Given the description of an element on the screen output the (x, y) to click on. 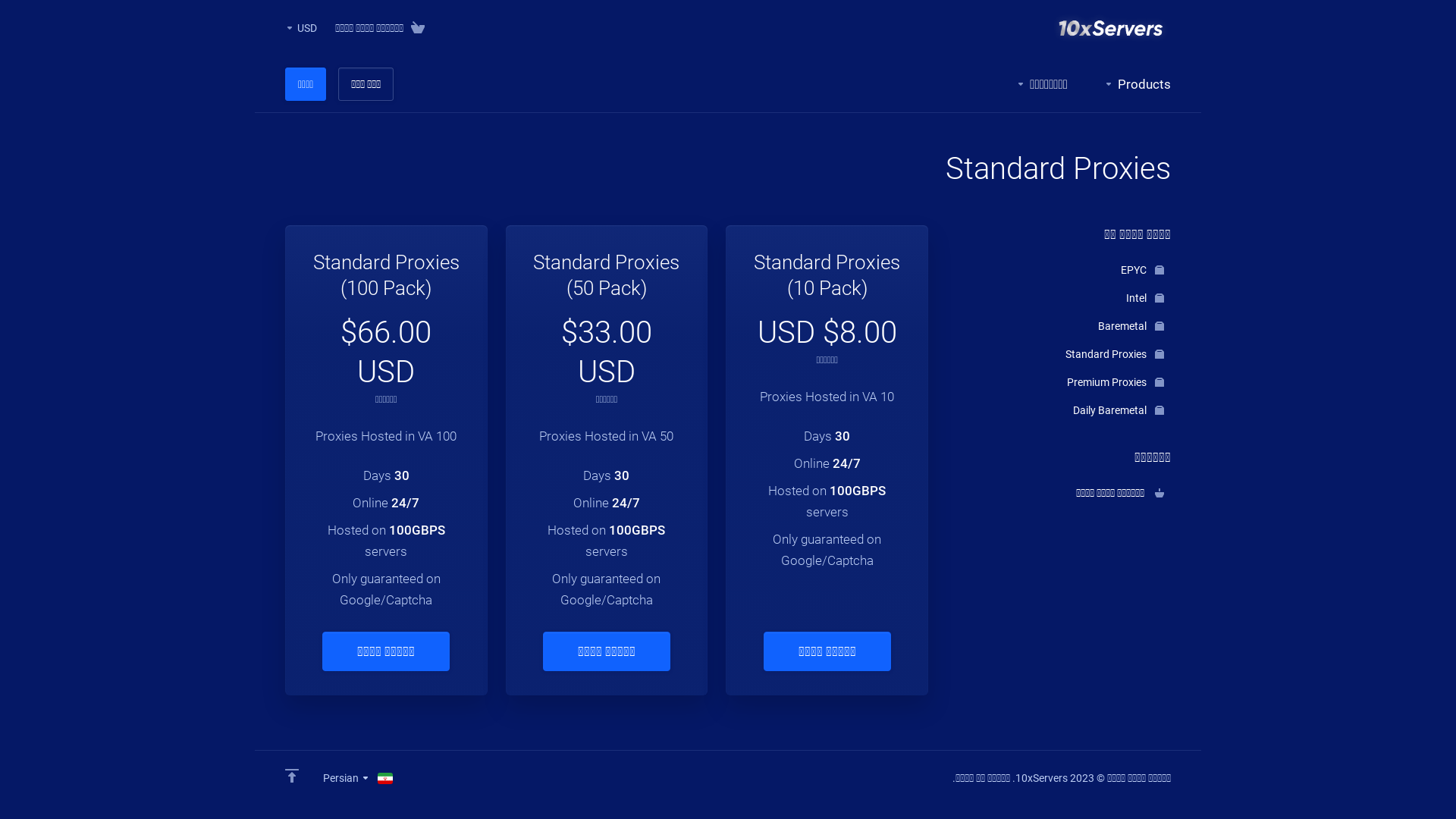
Products Element type: text (1137, 84)
USD Element type: text (301, 27)
10xServers Element type: hover (1110, 27)
Baremetal Element type: text (1064, 325)
Daily Baremetal Element type: text (1064, 409)
Standard Proxies Element type: text (1064, 353)
Intel Element type: text (1064, 297)
Premium Proxies Element type: text (1064, 381)
Persian Element type: text (357, 777)
EPYC Element type: text (1064, 269)
